Given the description of an element on the screen output the (x, y) to click on. 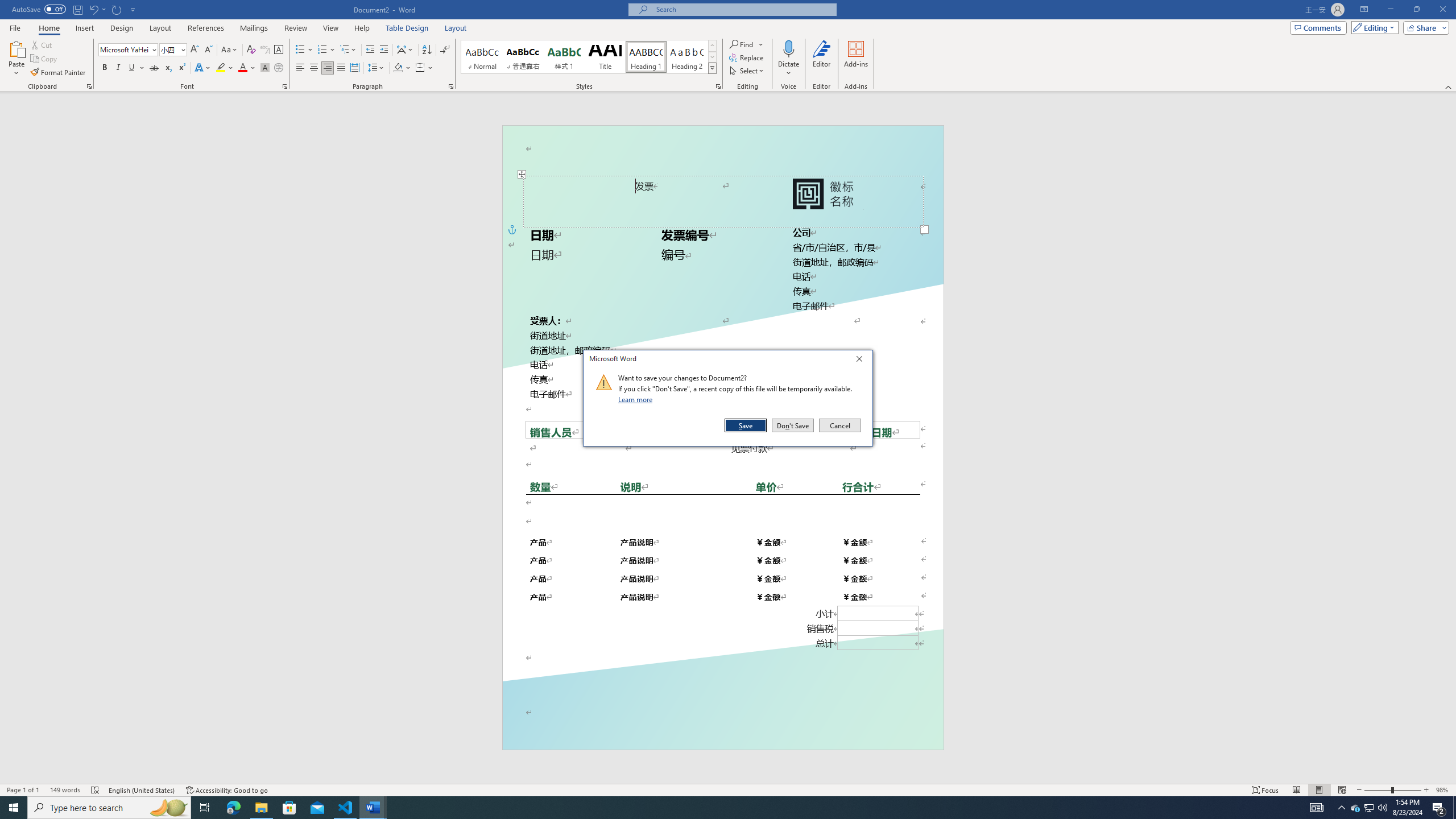
Page Number Page 1 of 1 (22, 790)
Cancel (839, 425)
Repeat Style (117, 9)
